Given the description of an element on the screen output the (x, y) to click on. 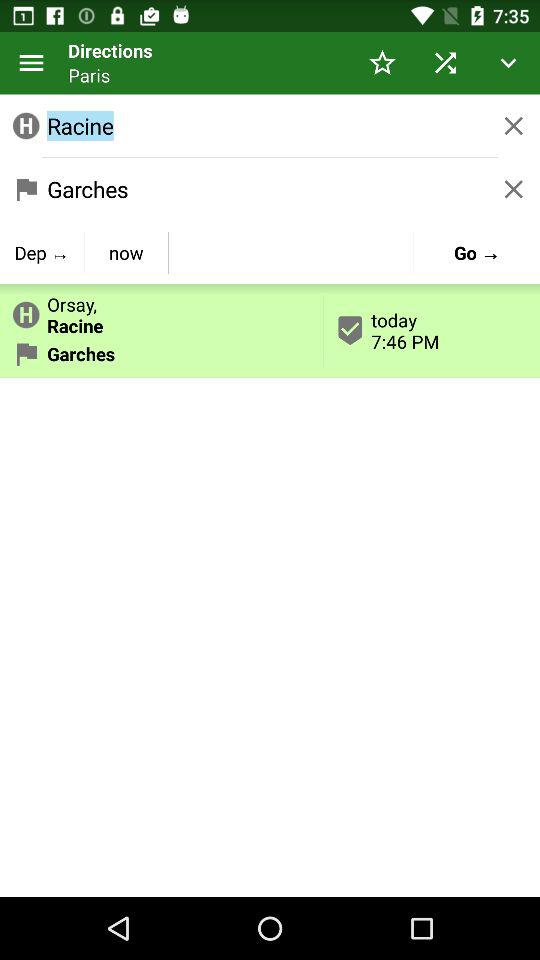
open app above the orsay,
racine item (42, 252)
